Given the description of an element on the screen output the (x, y) to click on. 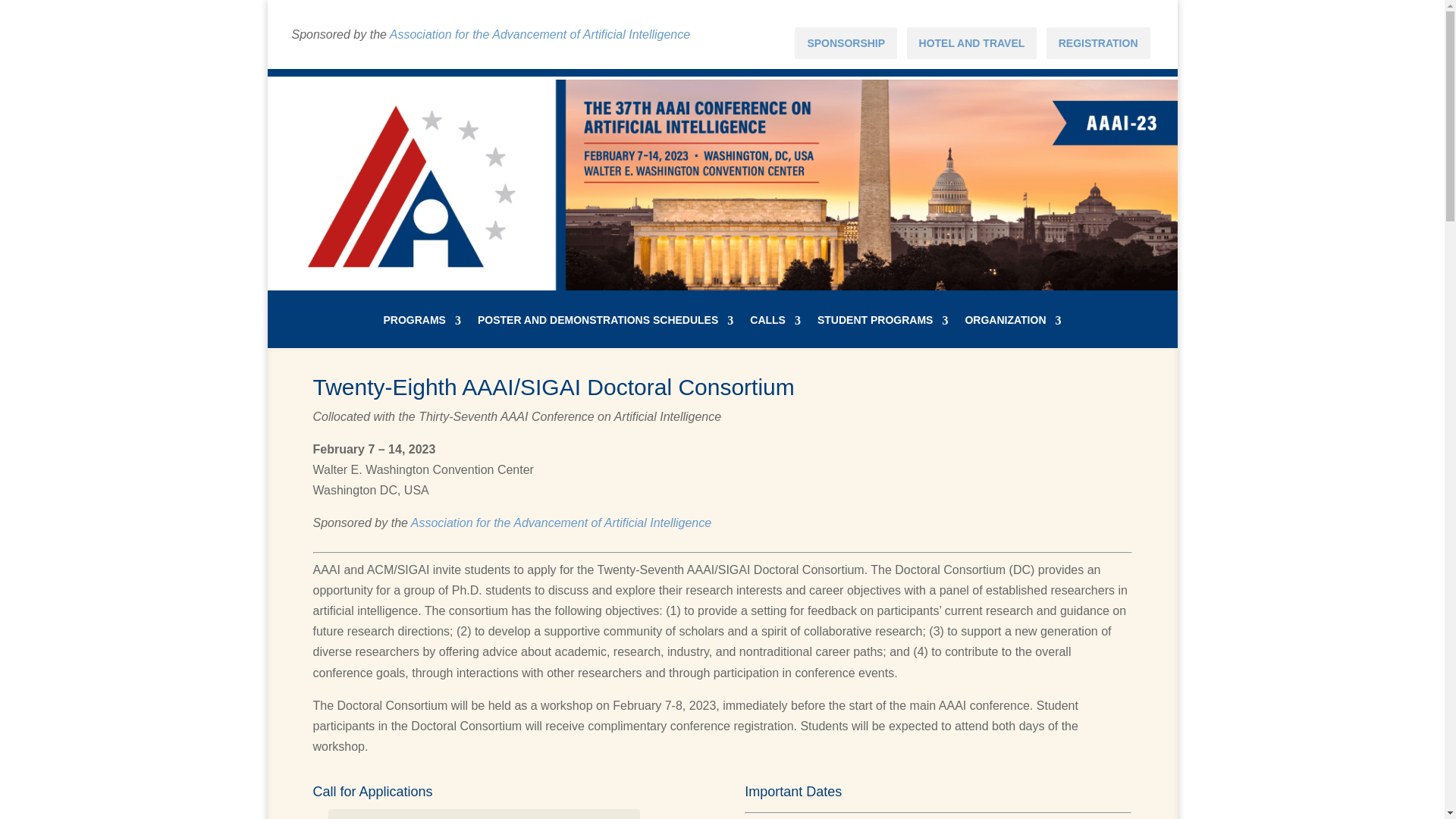
PROGRAMS (421, 331)
Association for the Advancement of Artificial Intelligence (540, 33)
POSTER AND DEMONSTRATIONS SCHEDULES (605, 331)
HOTEL AND TRAVEL (971, 42)
CALLS (774, 331)
SPONSORSHIP (845, 42)
REGISTRATION (1098, 42)
